Given the description of an element on the screen output the (x, y) to click on. 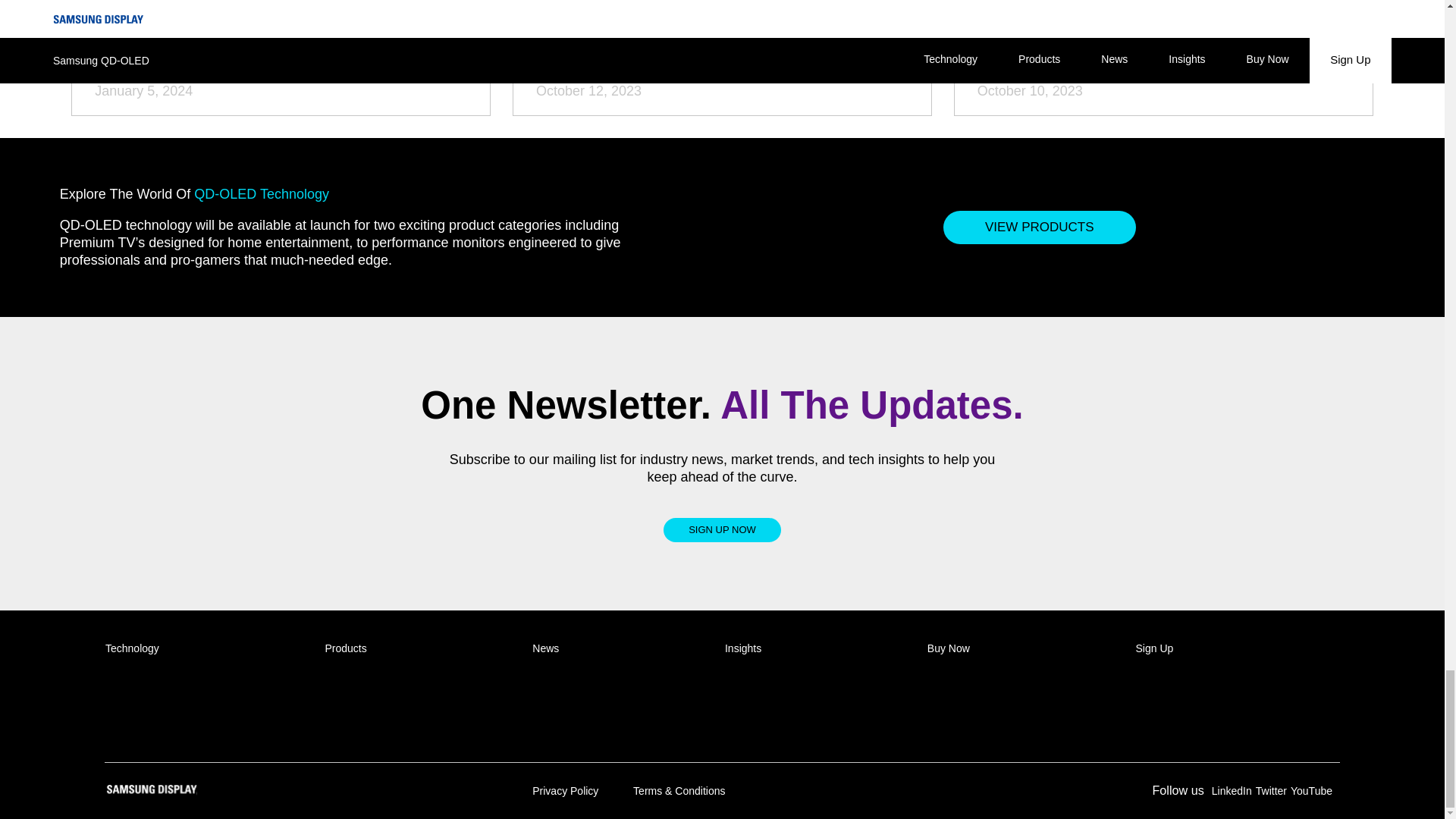
VIEW PRODUCTS (1039, 227)
